Given the description of an element on the screen output the (x, y) to click on. 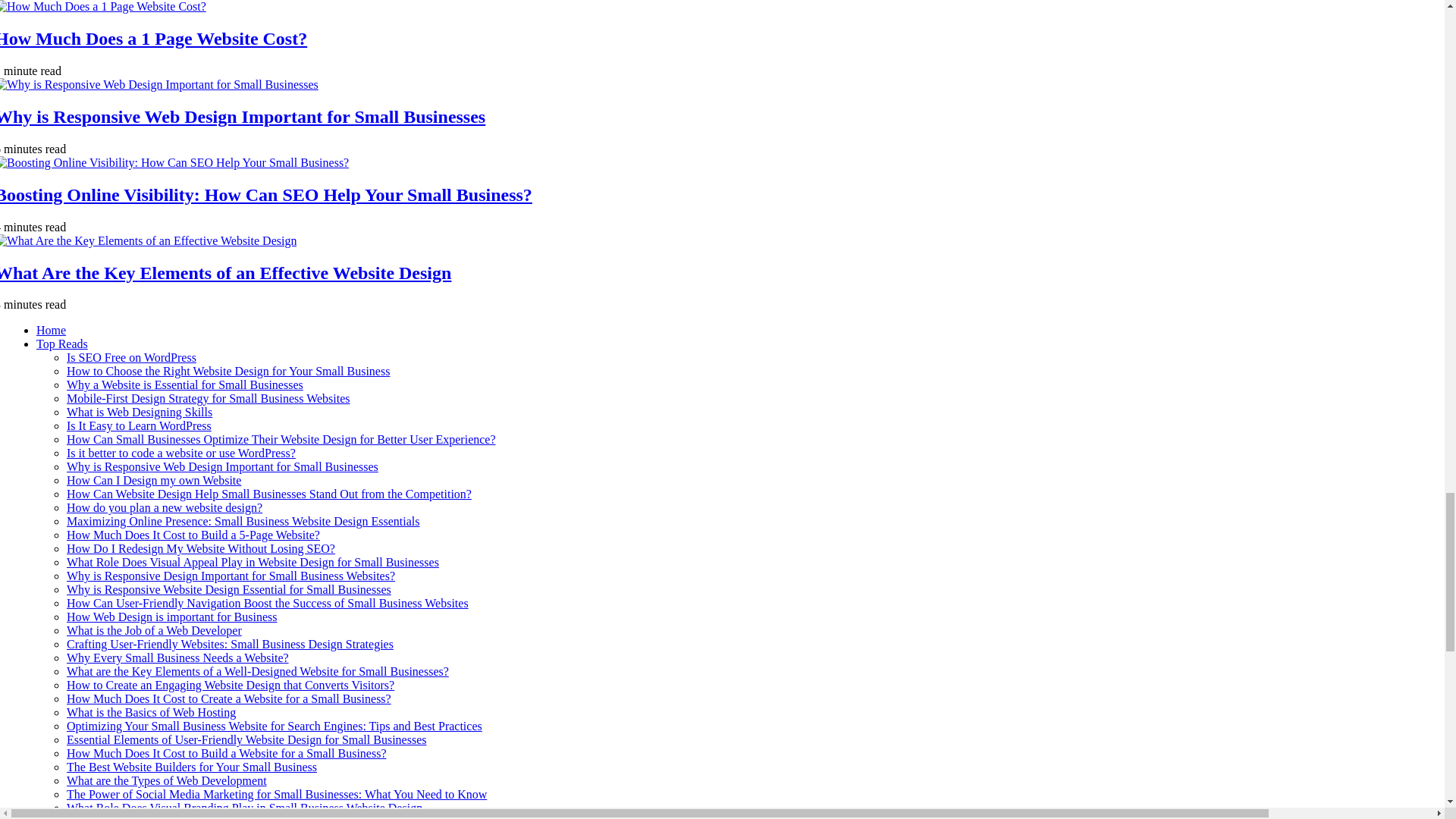
Why is Responsive Web Design Important for Small Businesses (242, 116)
How Much Does a 1 Page Website Cost? (153, 38)
Top Reads (61, 343)
What Are the Key Elements of an Effective Website Design (225, 272)
Home (50, 329)
